Given the description of an element on the screen output the (x, y) to click on. 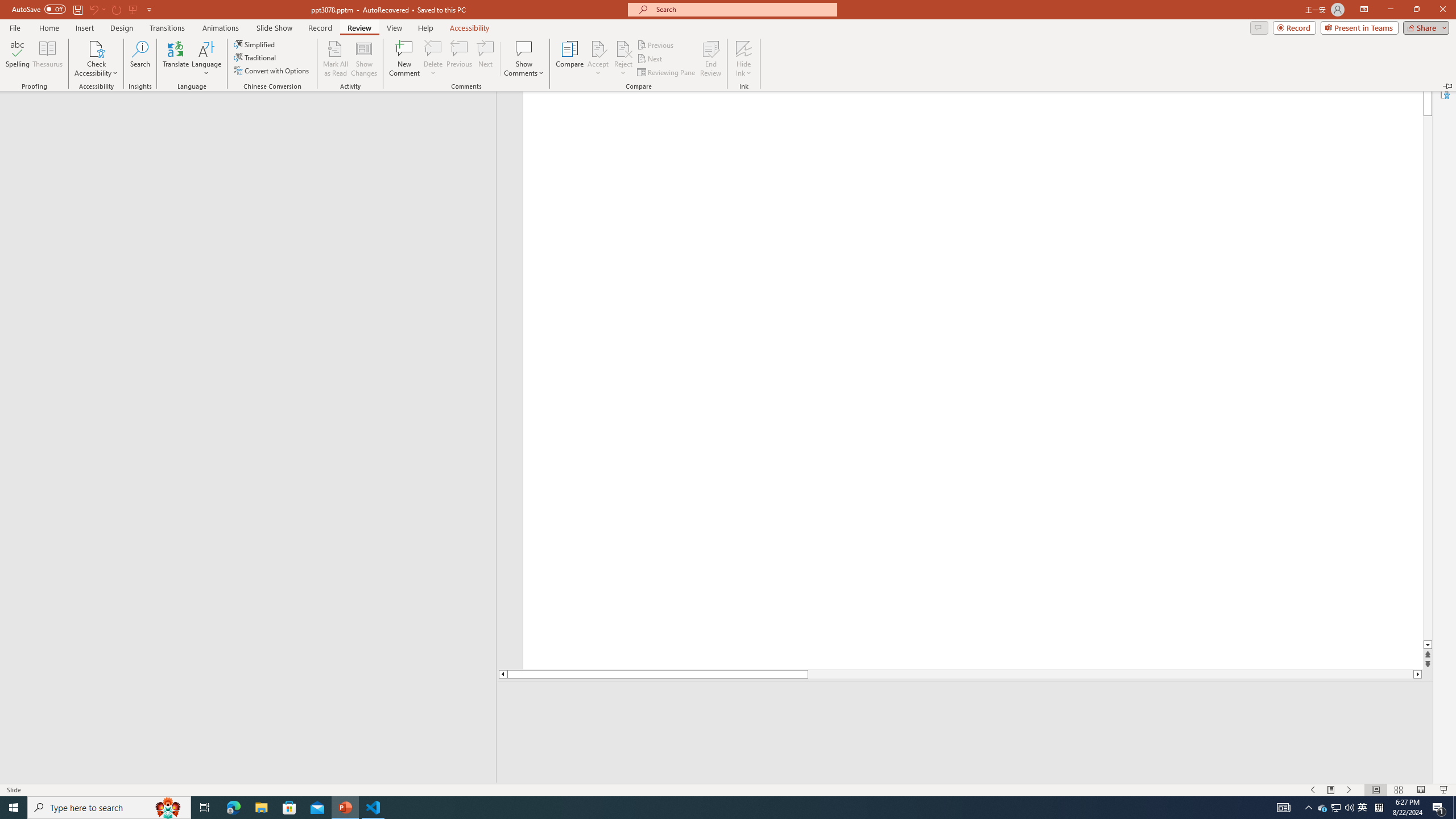
Search highlights icon opens search home window (167, 807)
Slide Show Previous On (1313, 790)
File Explorer (261, 807)
Menu On (1335, 807)
Q2790: 100% (1331, 790)
Microsoft Edge (1349, 807)
